Given the description of an element on the screen output the (x, y) to click on. 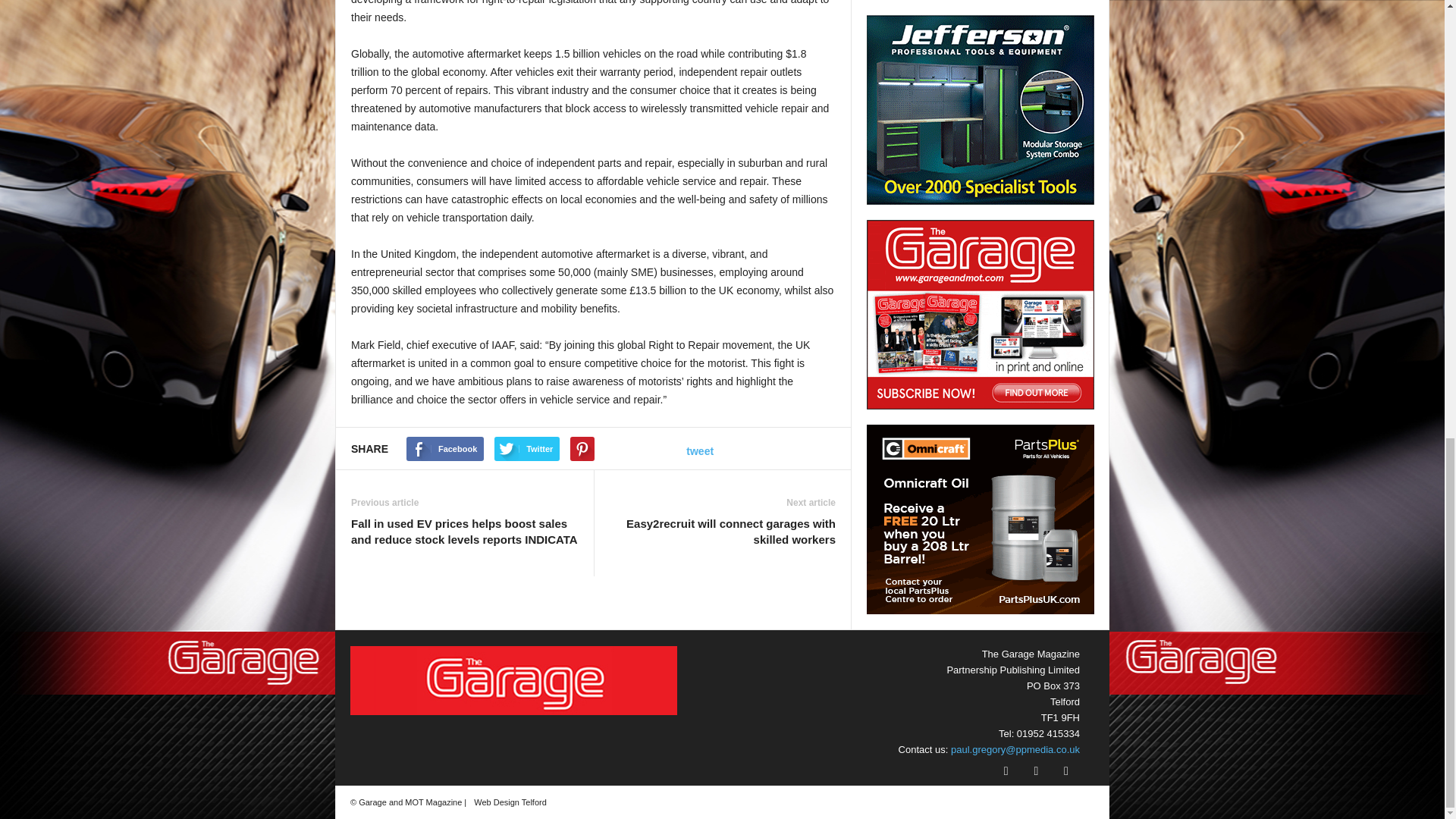
Youtube (1066, 771)
Instagram (1007, 771)
Facebook (444, 448)
Twitter (1037, 771)
Twitter (527, 448)
